Given the description of an element on the screen output the (x, y) to click on. 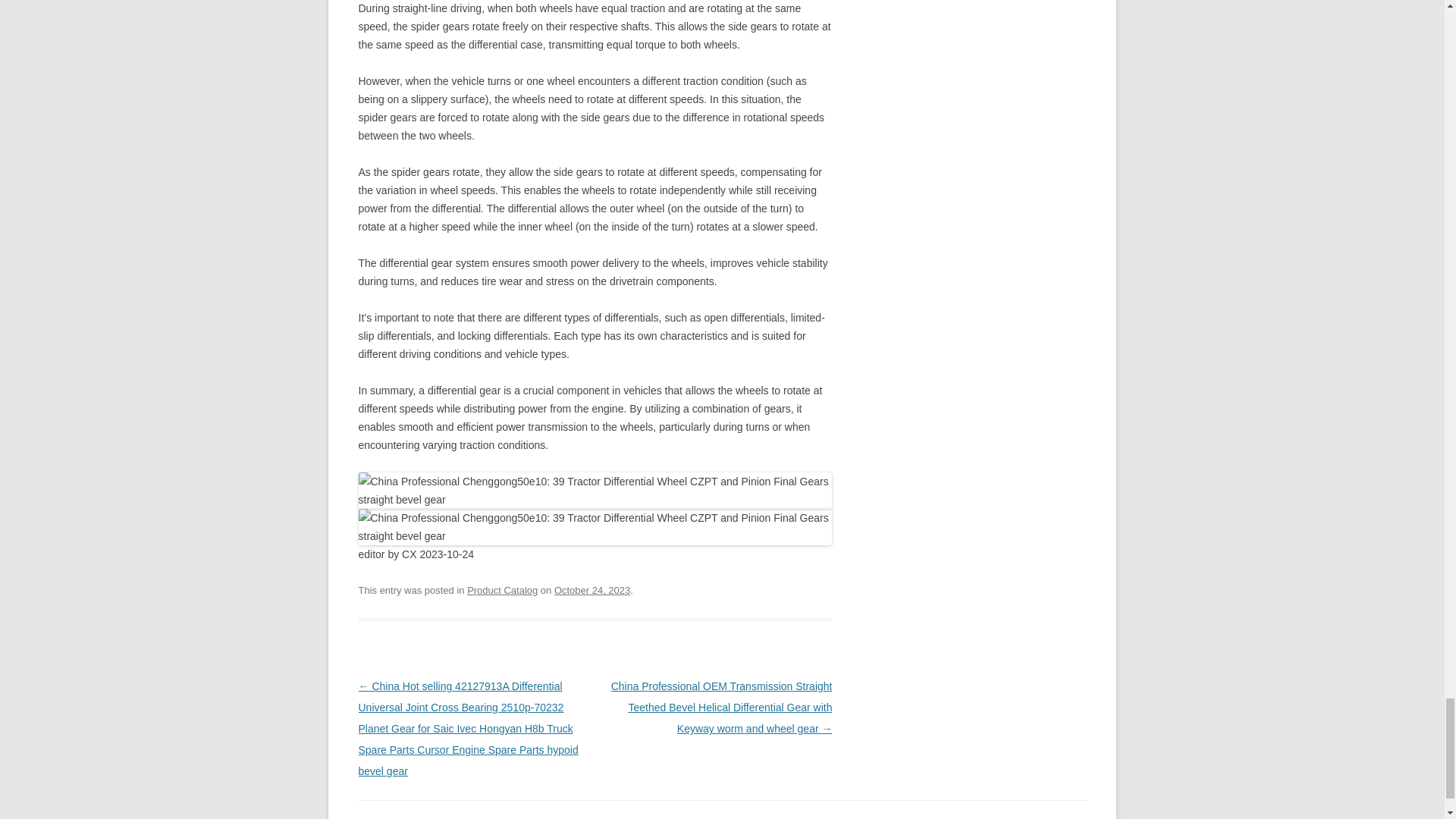
1:36 am (592, 590)
Product Catalog (502, 590)
October 24, 2023 (592, 590)
